Given the description of an element on the screen output the (x, y) to click on. 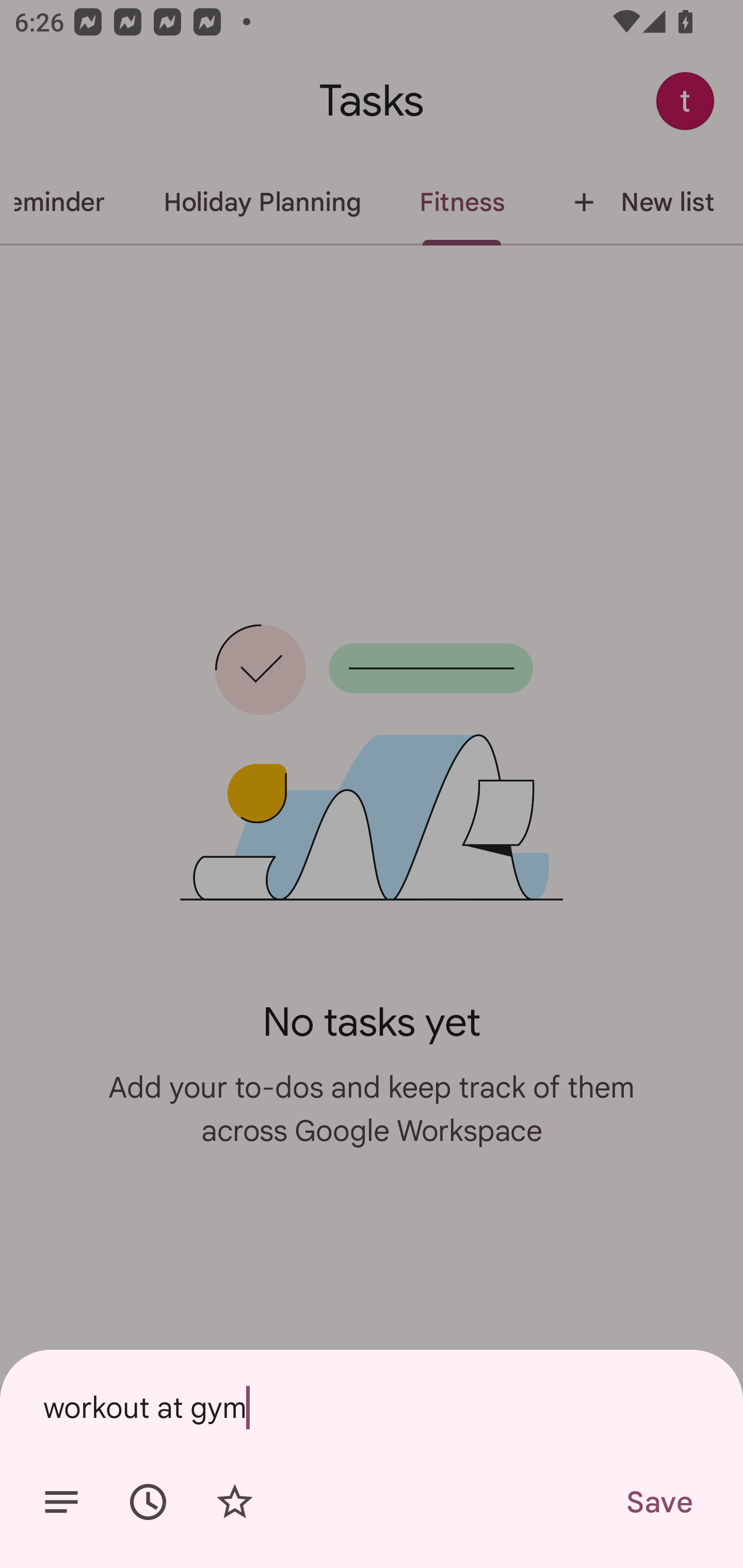
workout at gym (371, 1407)
Save (659, 1501)
Add details (60, 1501)
Set date/time (147, 1501)
Add star (234, 1501)
